Given the description of an element on the screen output the (x, y) to click on. 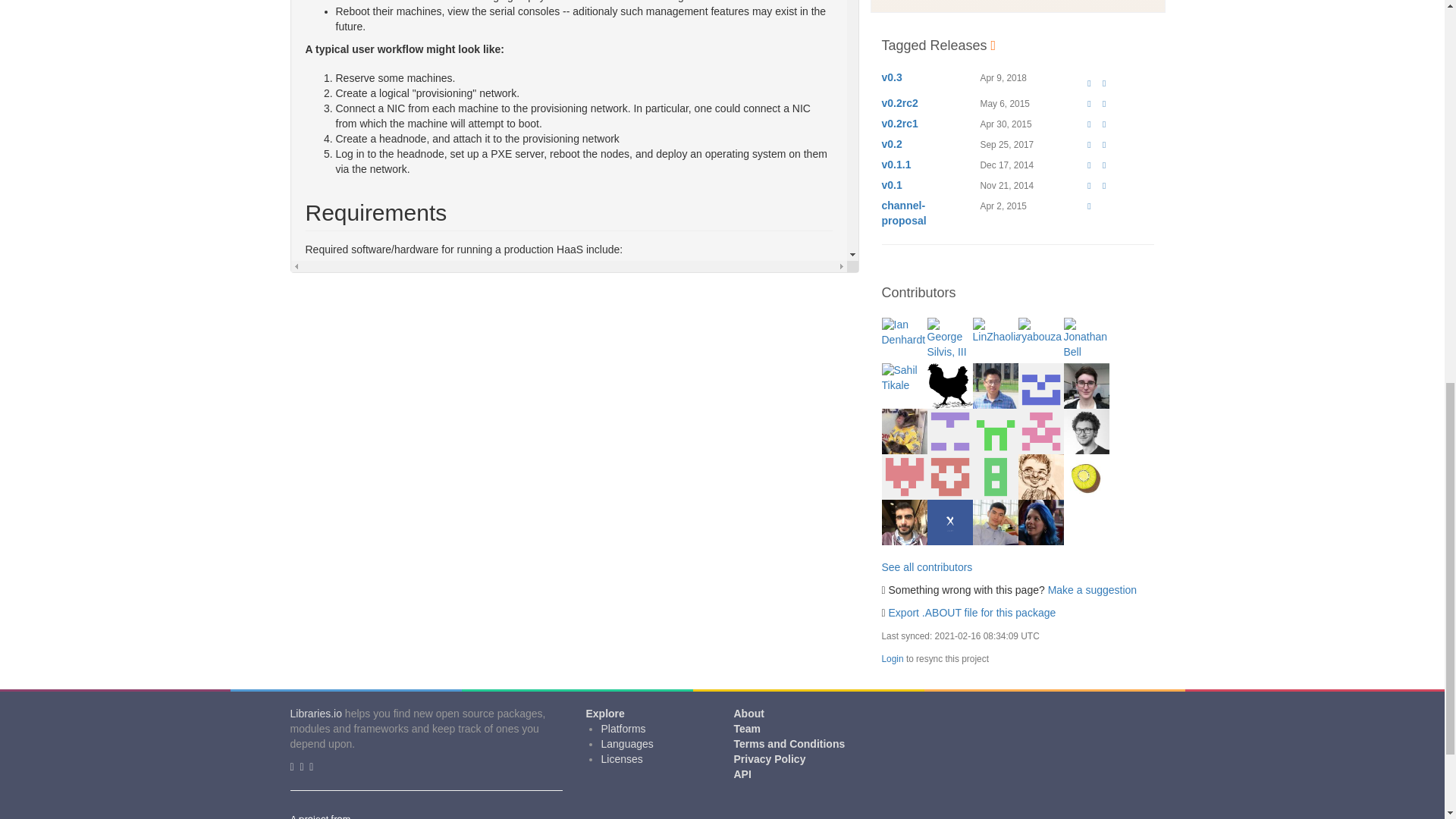
overview.md (364, 718)
using.rst (354, 748)
HACKING.rst (365, 795)
INSTALL.rst (362, 734)
apidesc.md (362, 764)
